Given the description of an element on the screen output the (x, y) to click on. 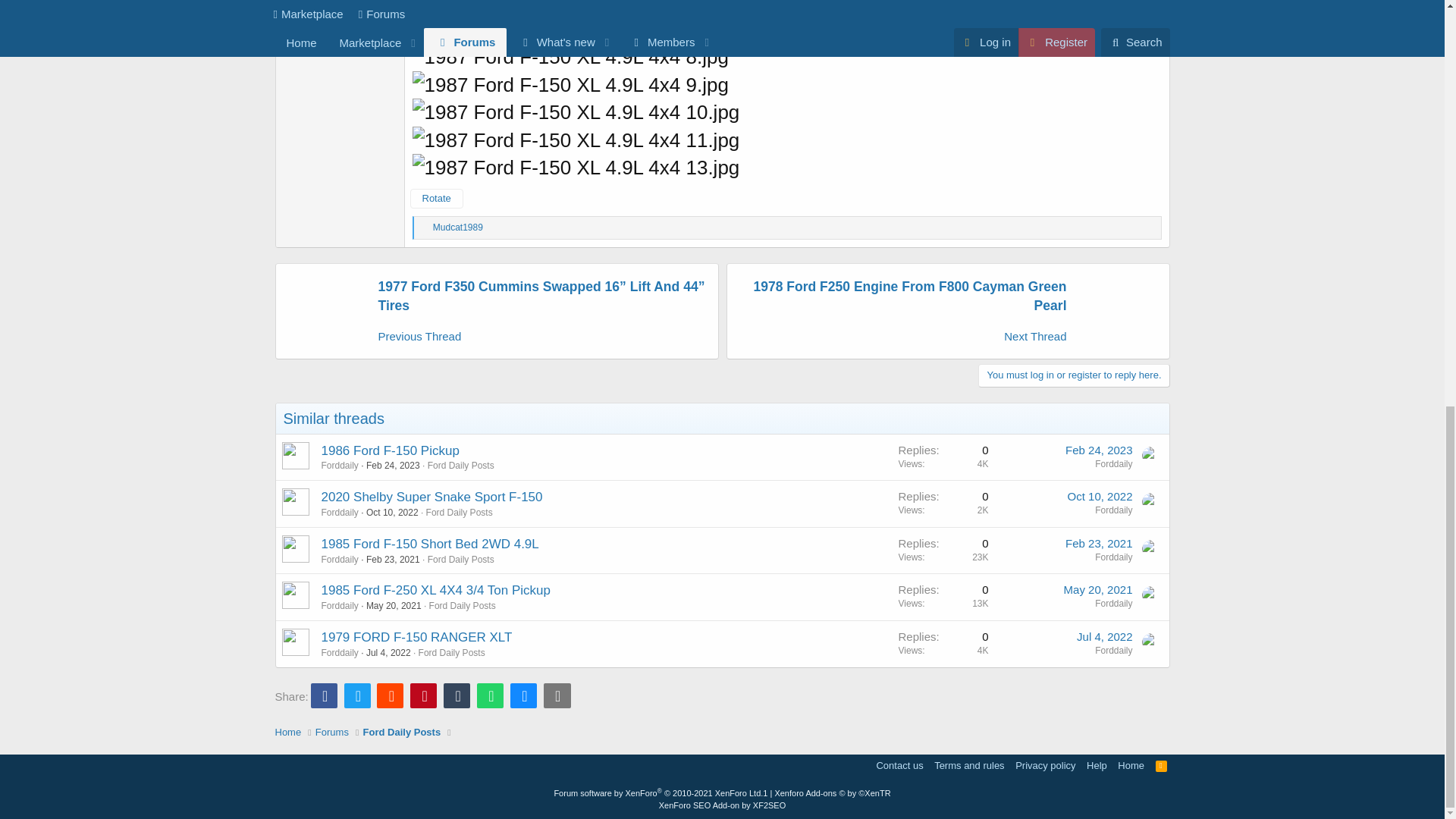
1987 Ford F-150 XL 4.9L 4x4 5.jpg (570, 7)
